Given the description of an element on the screen output the (x, y) to click on. 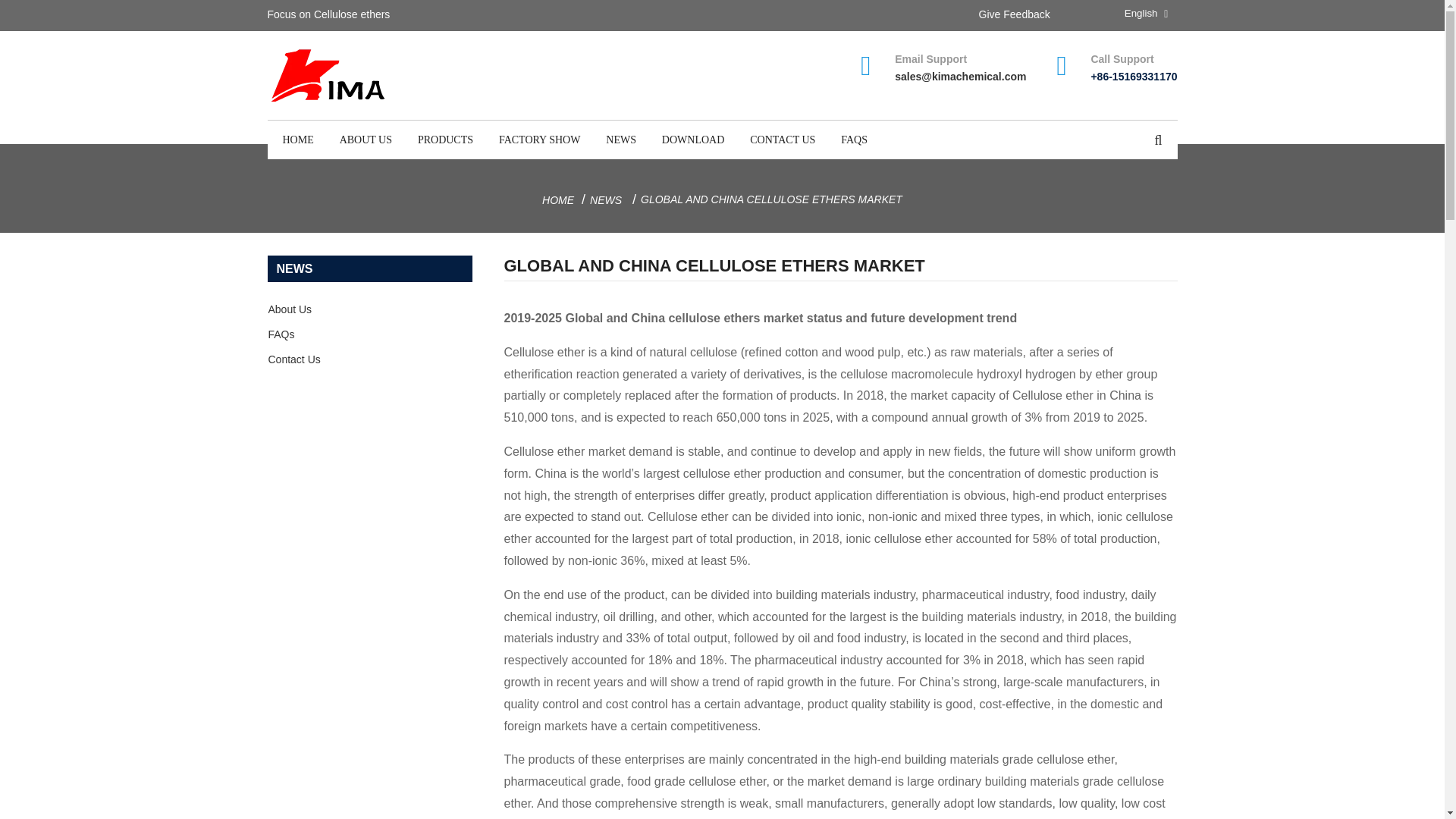
DOWNLOAD (692, 139)
PRODUCTS (445, 139)
FACTORY SHOW (539, 139)
FAQs (369, 334)
Give Feedback (1013, 14)
HOME (297, 139)
HOME (557, 200)
GLOBAL AND CHINA CELLULOSE ETHERS MARKET (771, 199)
ABOUT US (366, 139)
Contact Us (369, 359)
